Given the description of an element on the screen output the (x, y) to click on. 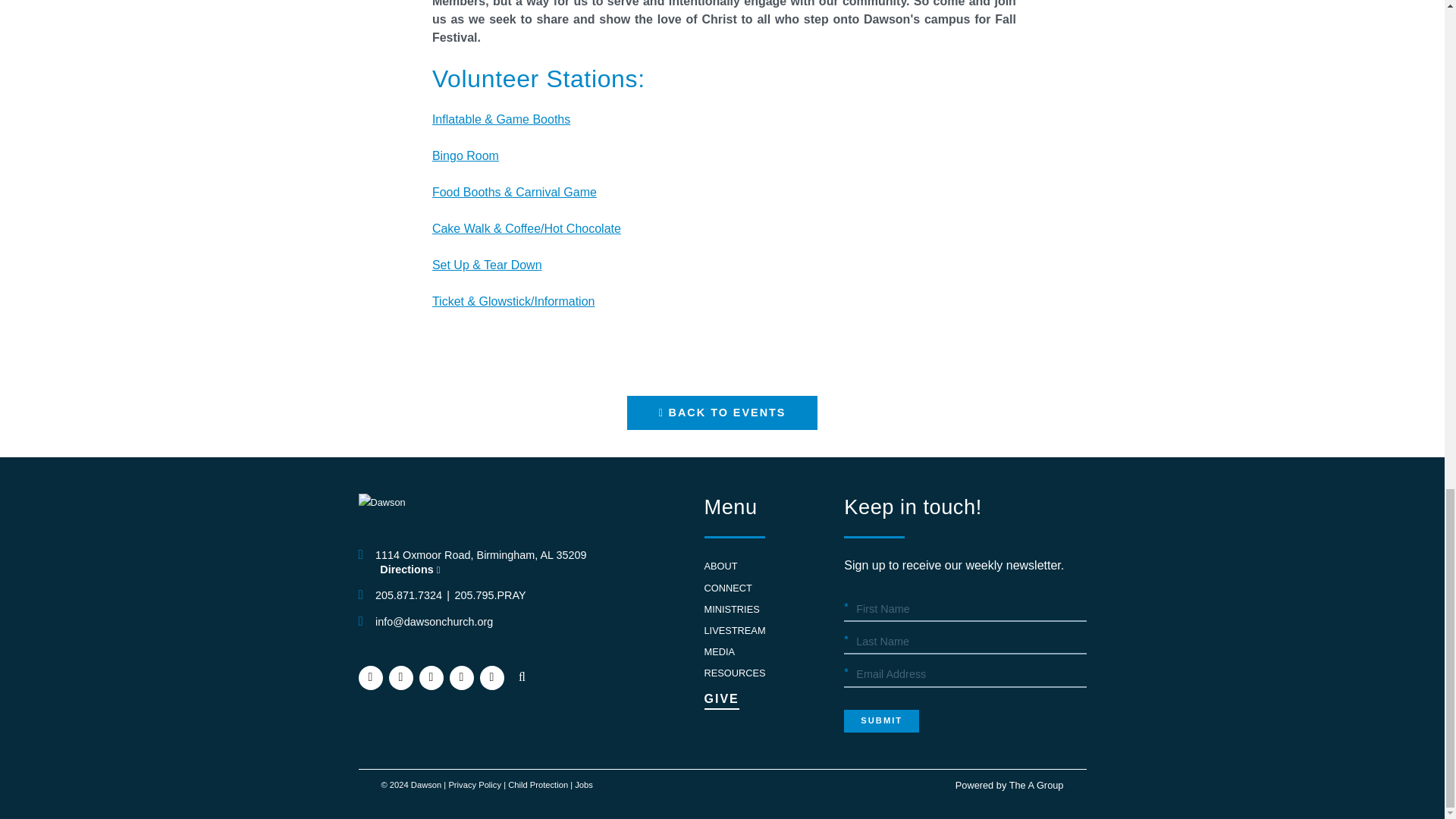
Email Address (965, 674)
Last Name (965, 641)
First Name (965, 609)
